Given the description of an element on the screen output the (x, y) to click on. 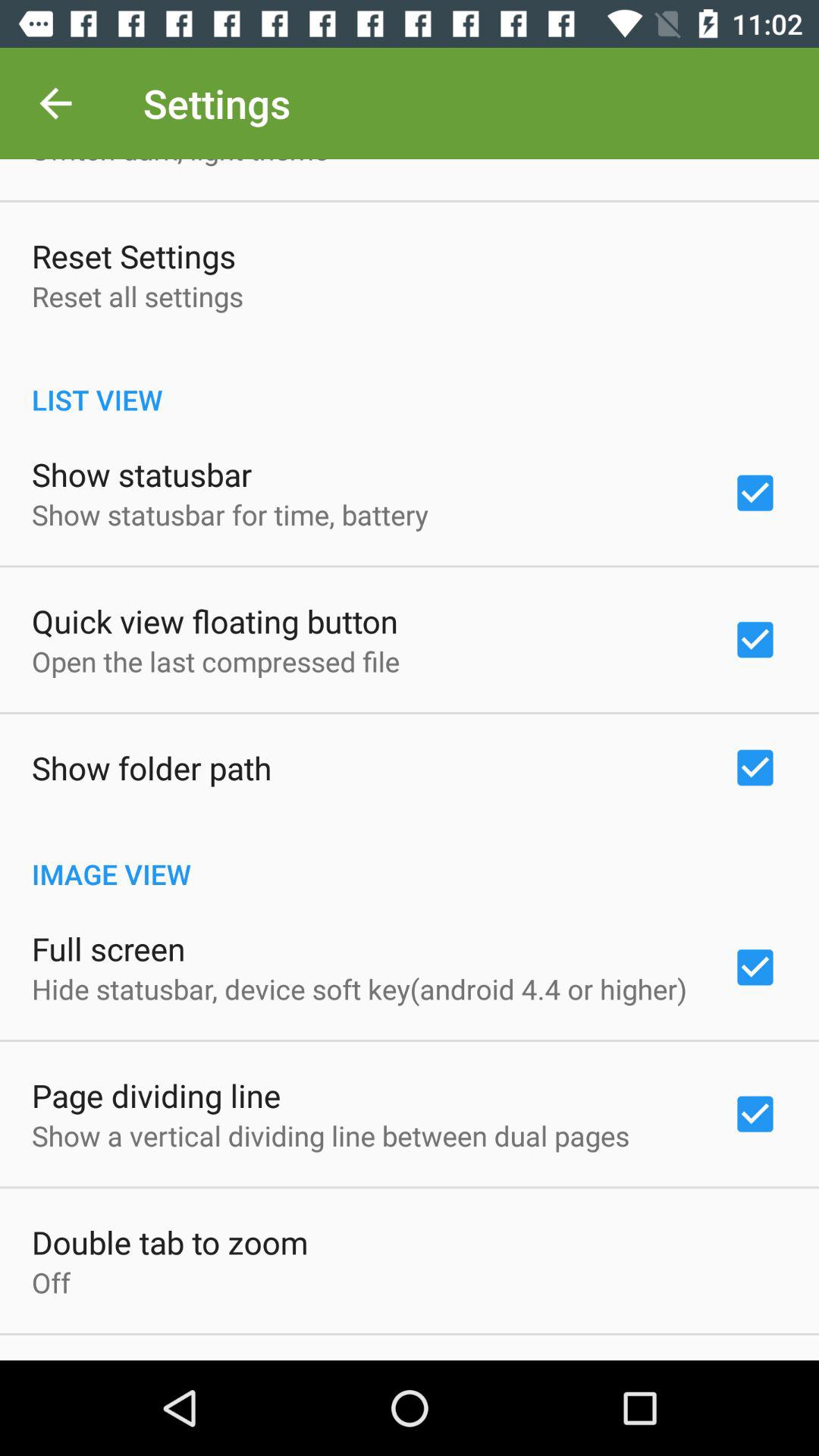
go back (55, 103)
